Given the description of an element on the screen output the (x, y) to click on. 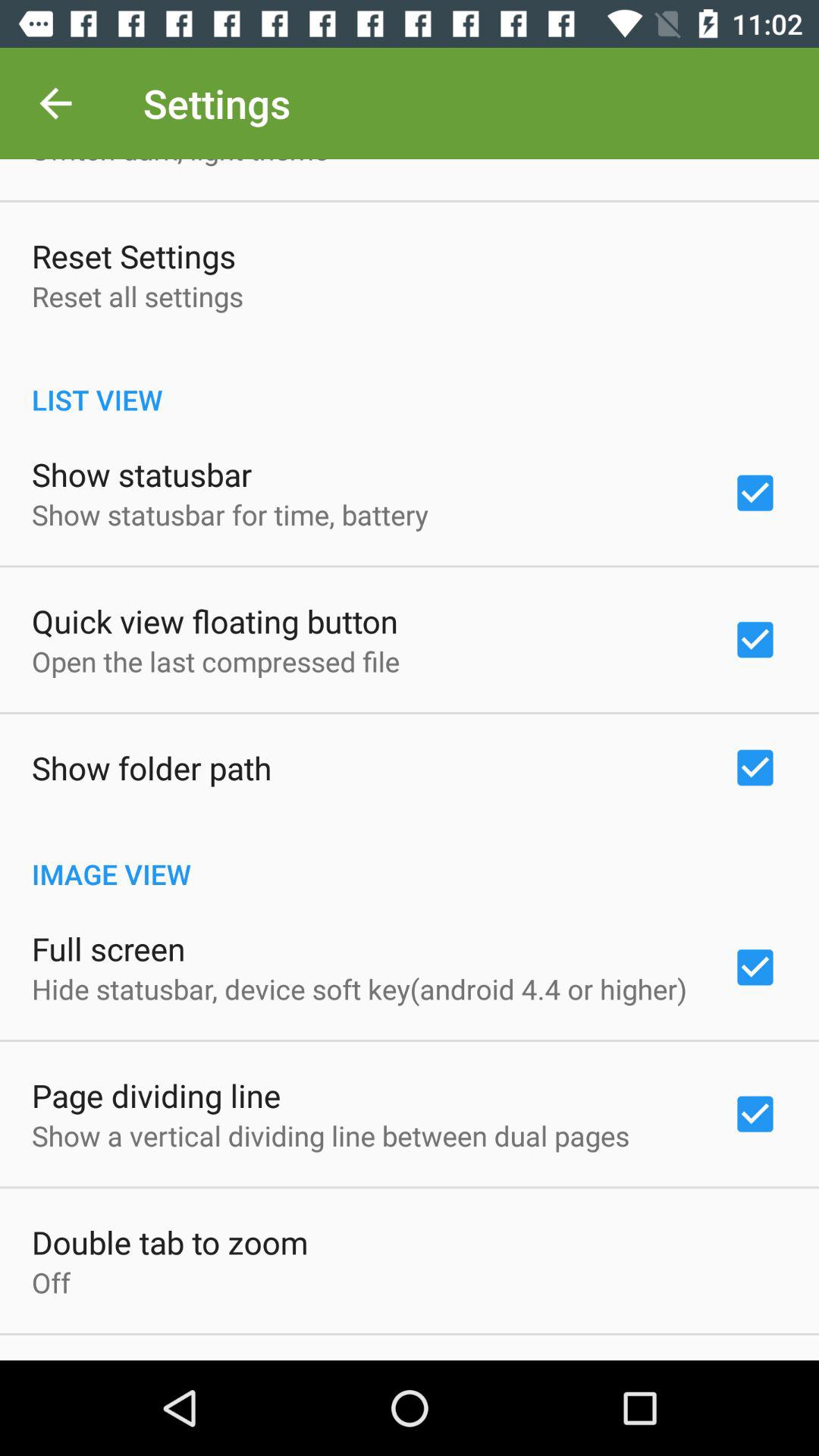
go back (55, 103)
